Given the description of an element on the screen output the (x, y) to click on. 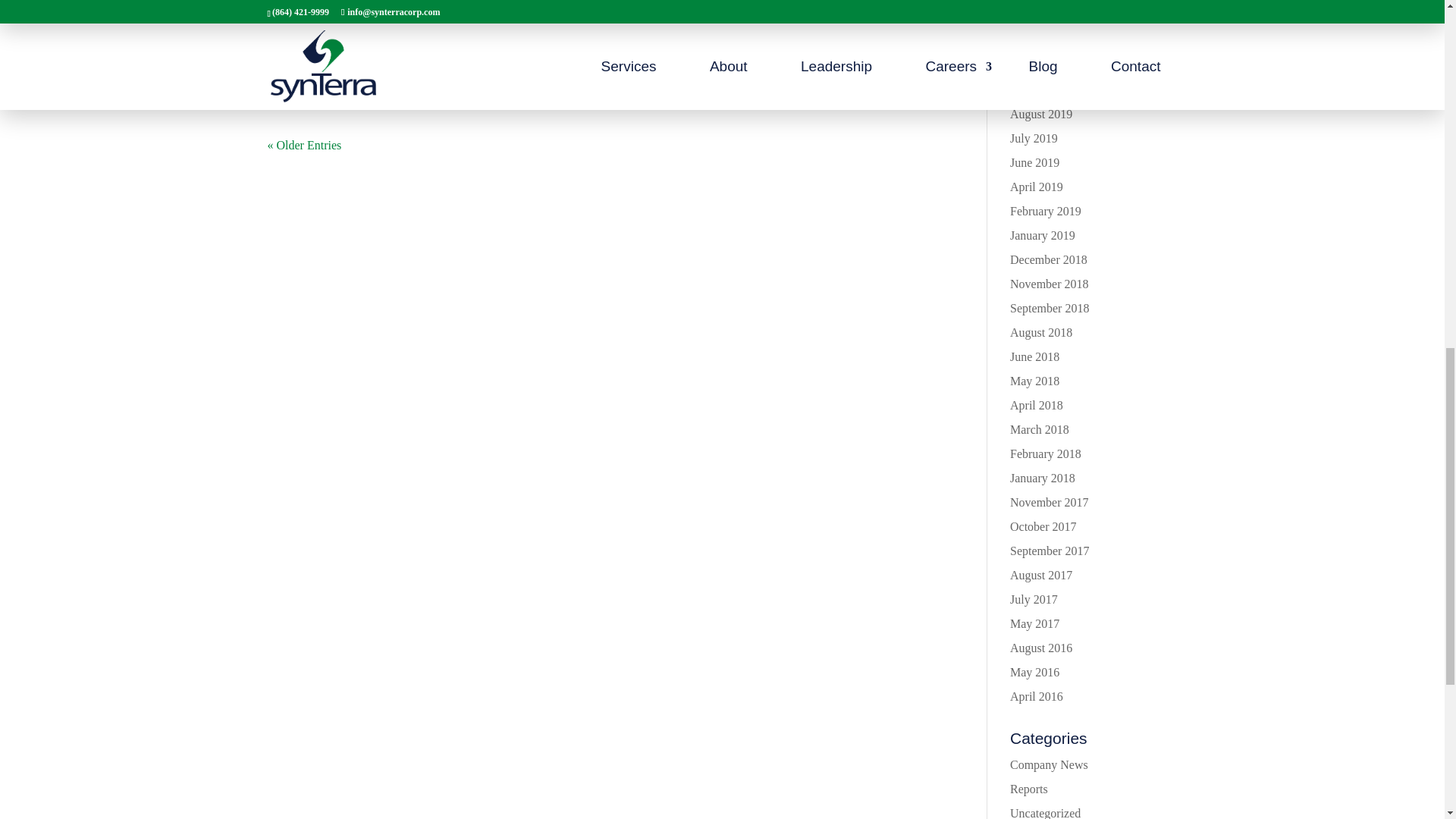
Company News (425, 10)
IT Admin (301, 10)
Posts by IT Admin (301, 10)
